Given the description of an element on the screen output the (x, y) to click on. 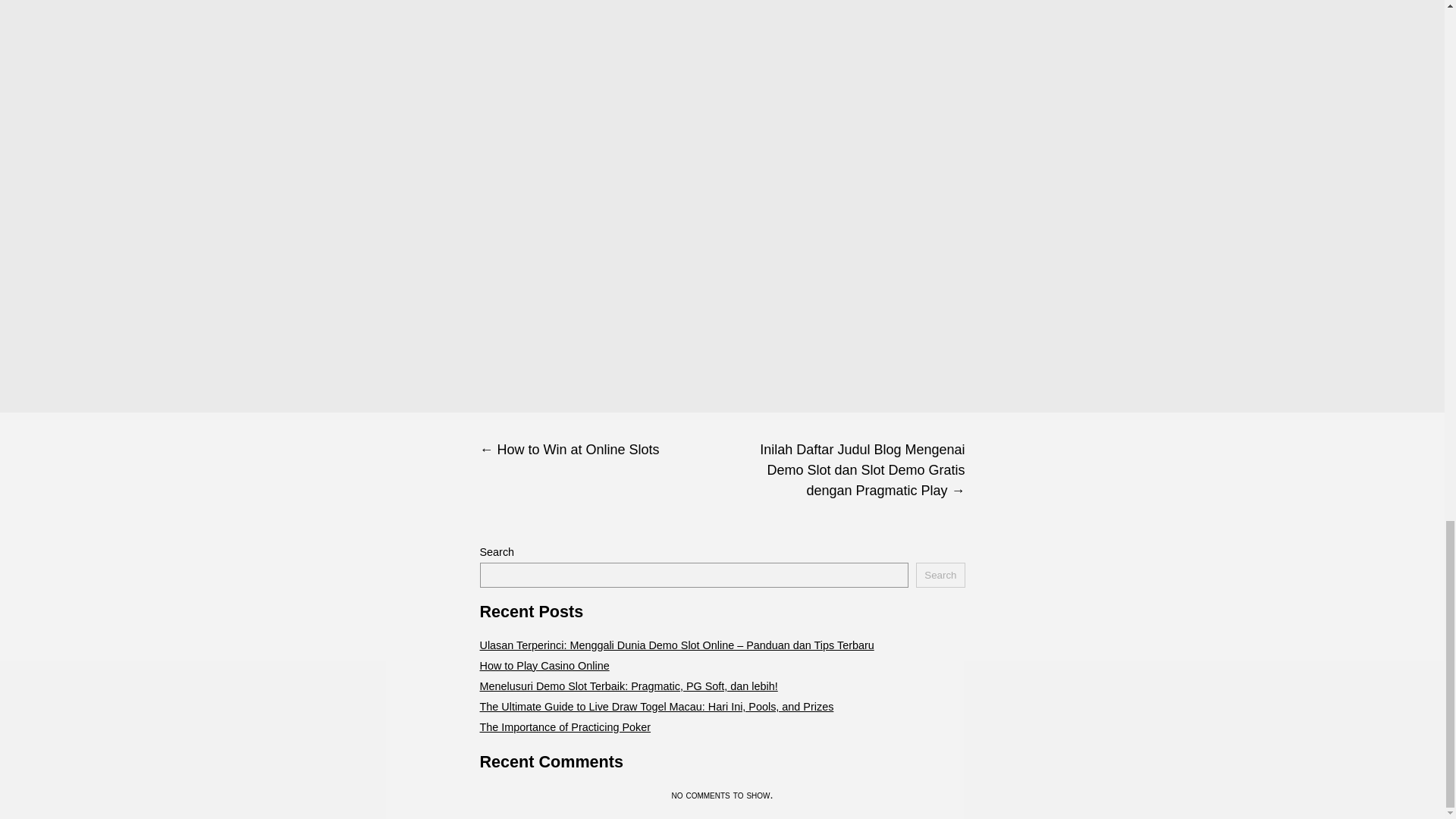
Search (939, 575)
How to Play Casino Online (543, 665)
How to Win at Online Slots (600, 449)
The Importance of Practicing Poker (564, 727)
Menelusuri Demo Slot Terbaik: Pragmatic, PG Soft, dan lebih! (628, 686)
